Given the description of an element on the screen output the (x, y) to click on. 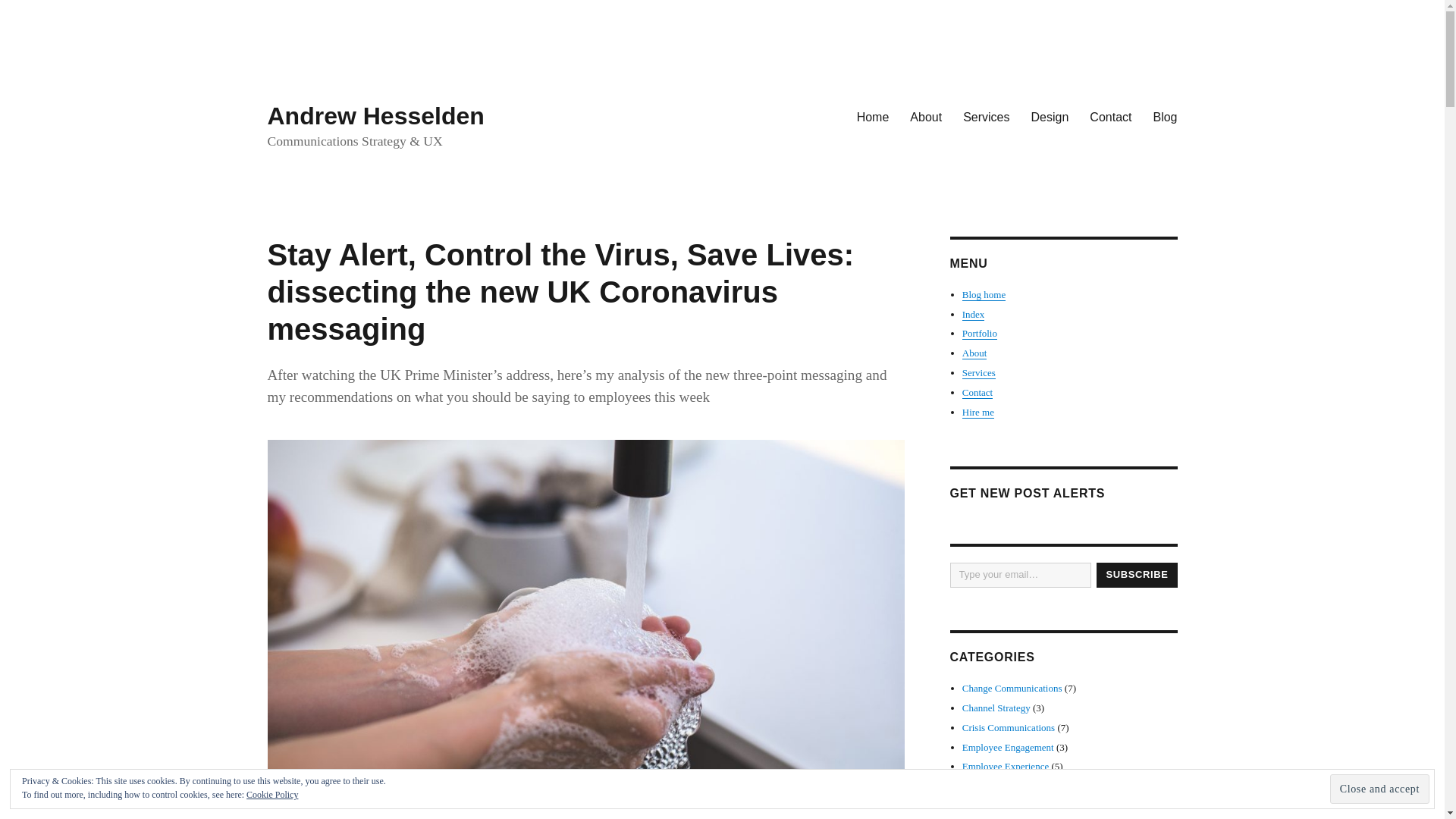
Design (1050, 116)
Services (986, 116)
Andrew Hesselden (374, 115)
Home (872, 116)
Blog (1164, 116)
Close and accept (1379, 788)
About (925, 116)
Contact (1109, 116)
